Given the description of an element on the screen output the (x, y) to click on. 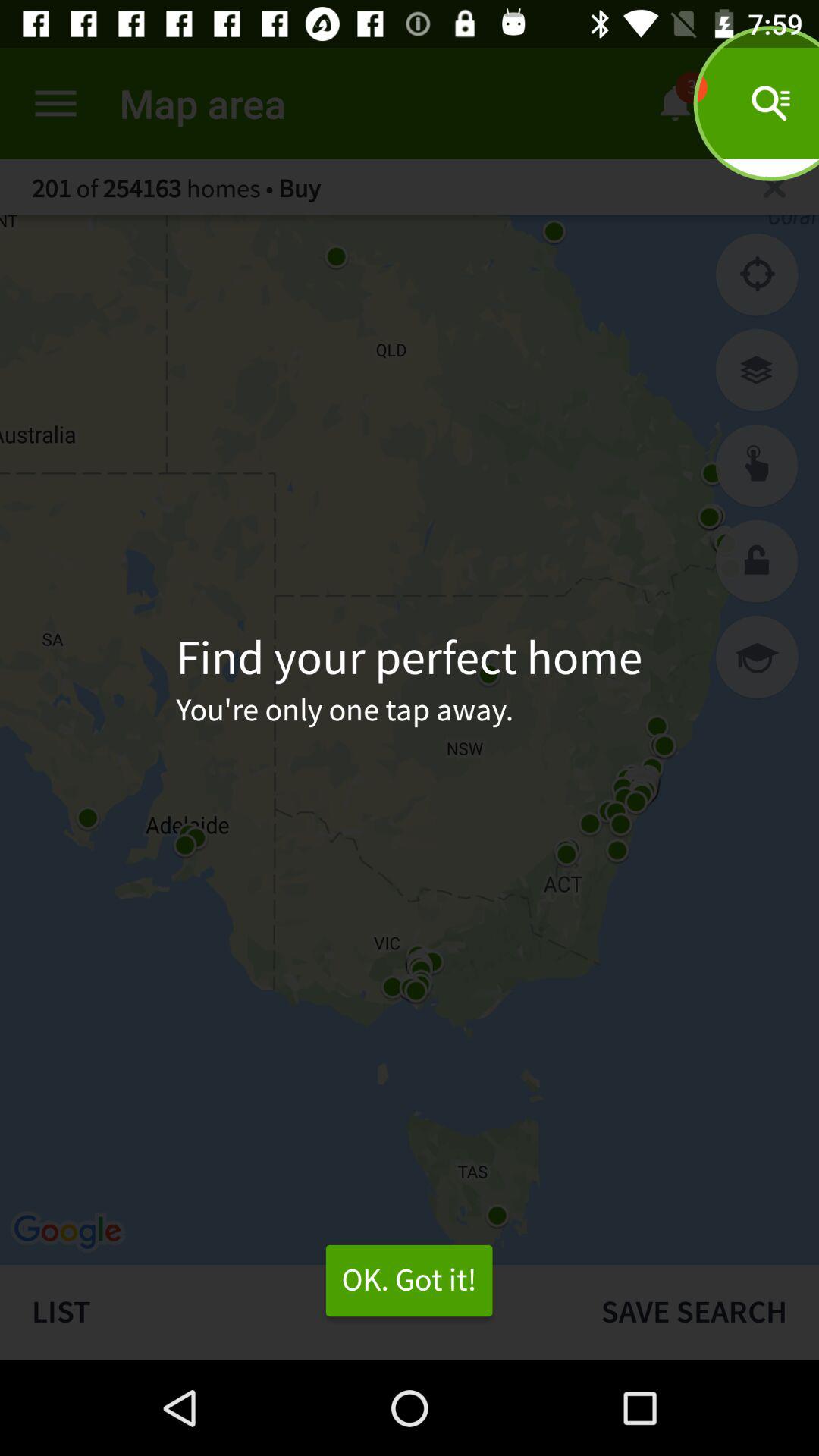
click the item next to the map area icon (55, 103)
